Given the description of an element on the screen output the (x, y) to click on. 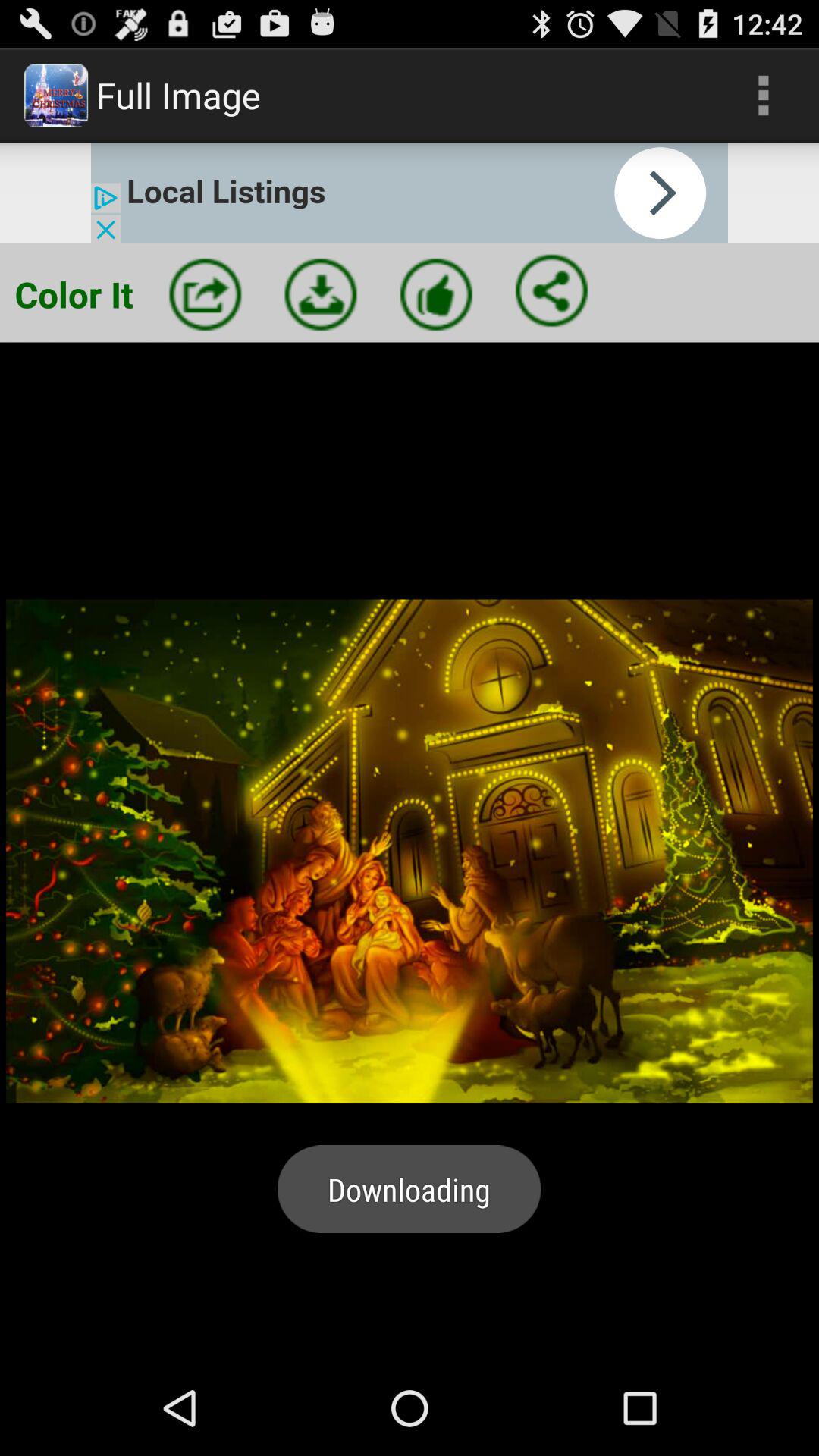
download selected item (320, 294)
